Given the description of an element on the screen output the (x, y) to click on. 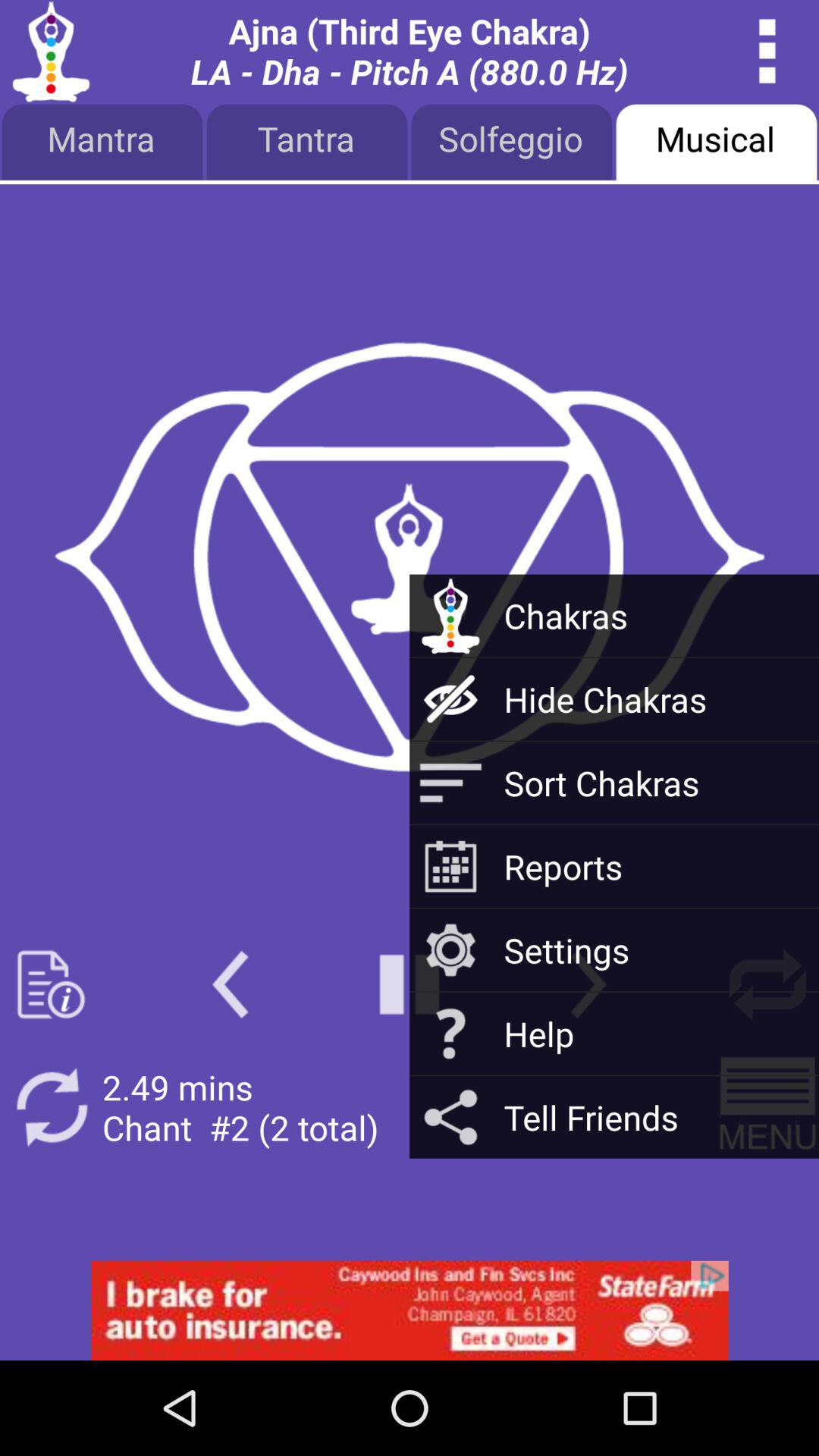
toggle autoplay option (767, 1107)
